Given the description of an element on the screen output the (x, y) to click on. 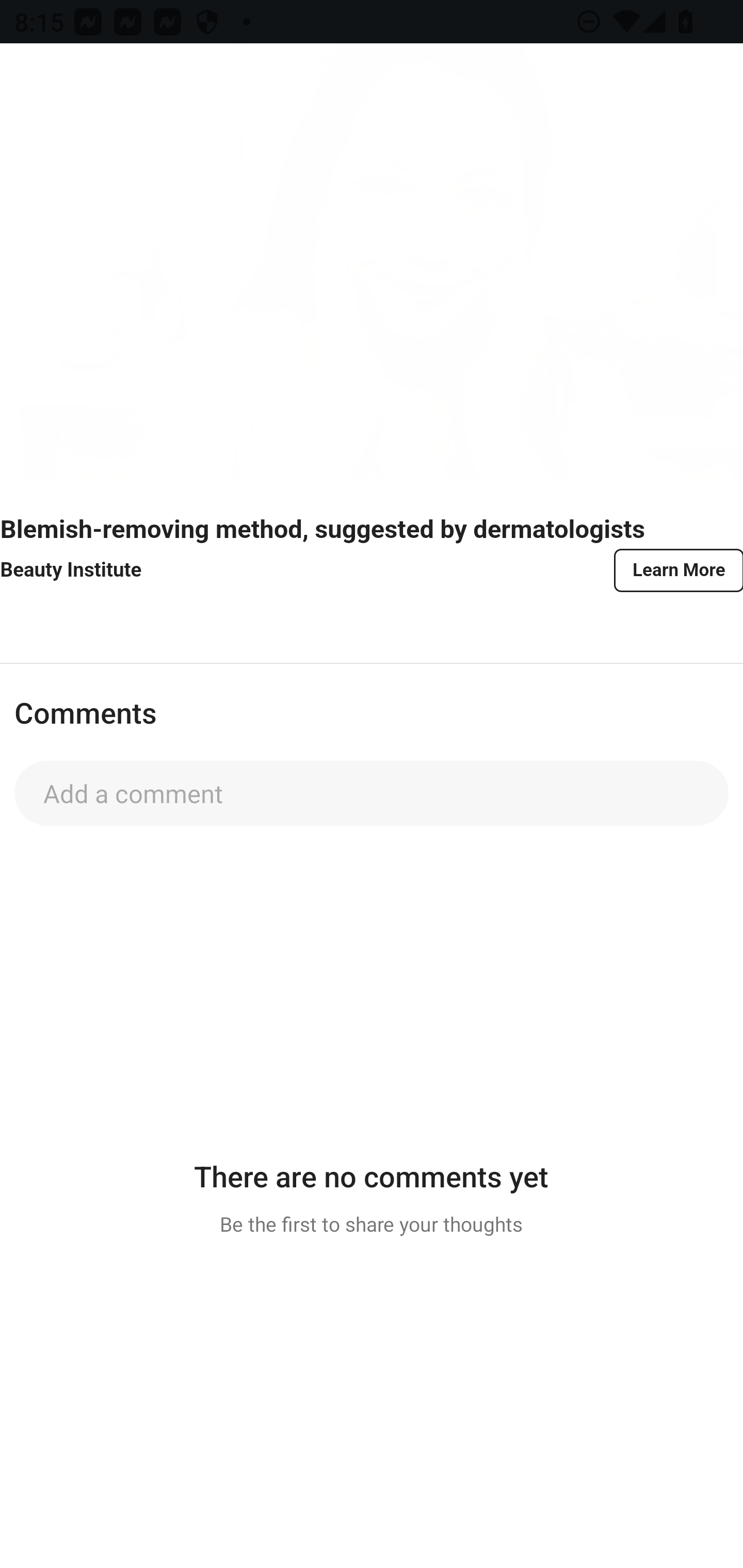
Learn More (677, 569)
Add a comment (371, 793)
